Given the description of an element on the screen output the (x, y) to click on. 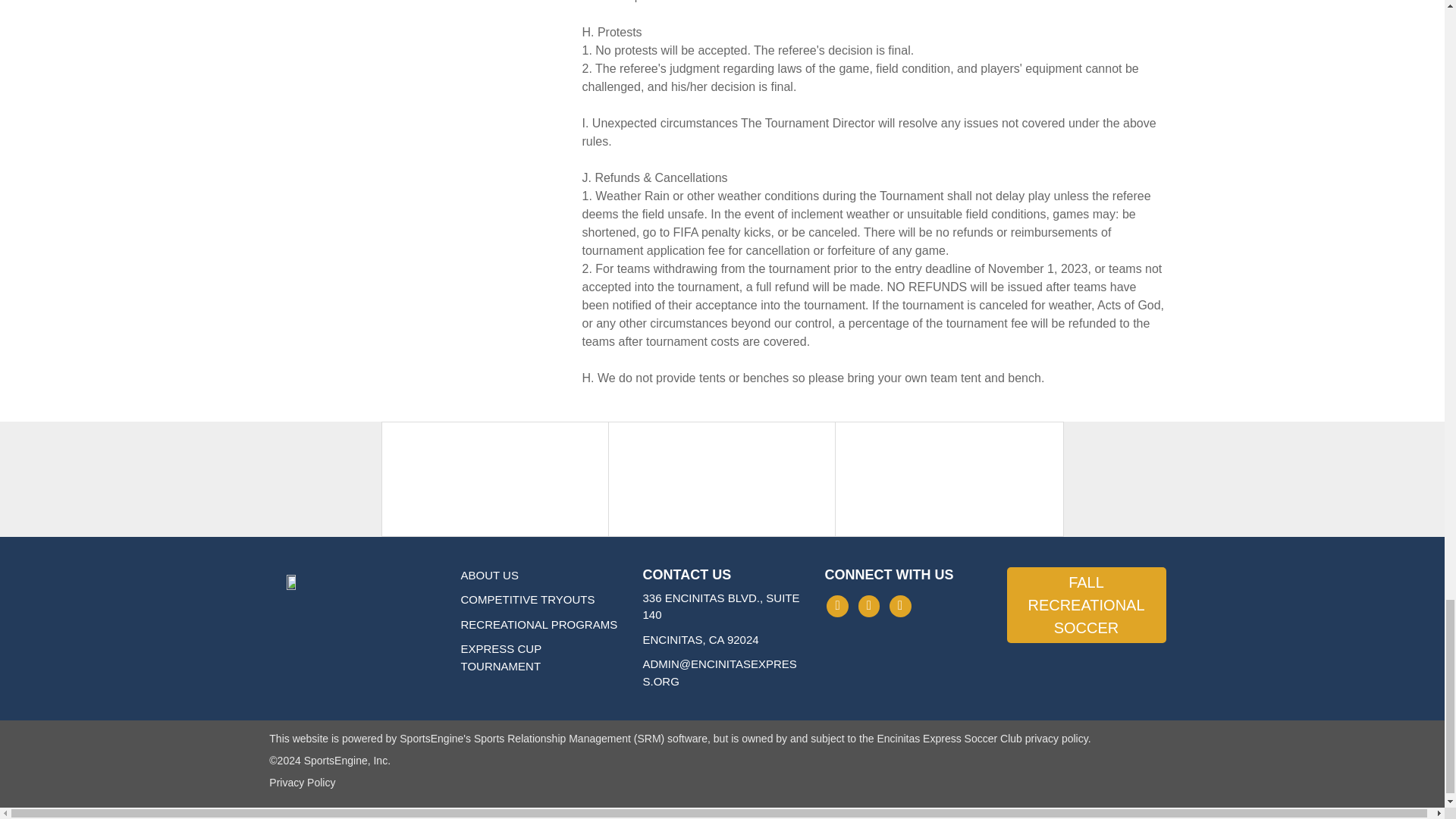
Instagram (869, 606)
EXPRESS CUP TOURNAMENT (501, 657)
COMPETITIVE TRYOUTS (528, 599)
ABOUT US (489, 574)
RECREATIONAL PROGRAMS (539, 624)
FALL RECREATIONAL SOCCER (1086, 604)
Facebook (837, 606)
